Given the description of an element on the screen output the (x, y) to click on. 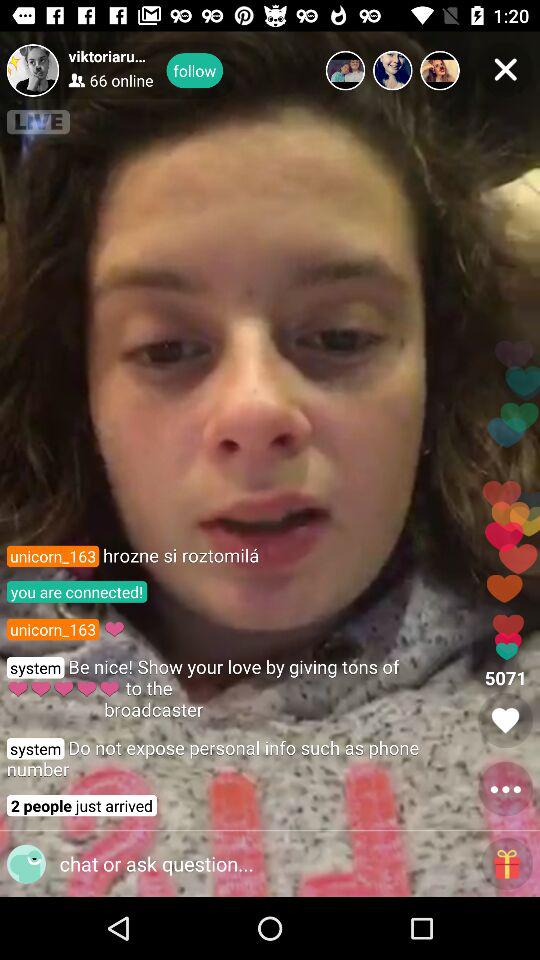
select a two line text which is above live on a left side of a page (122, 70)
